Given the description of an element on the screen output the (x, y) to click on. 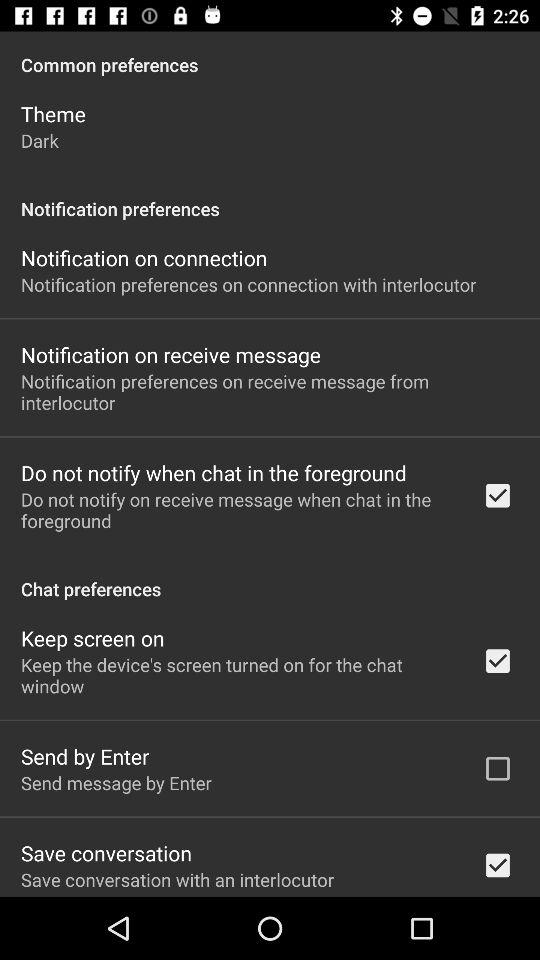
open the dark icon (39, 140)
